Given the description of an element on the screen output the (x, y) to click on. 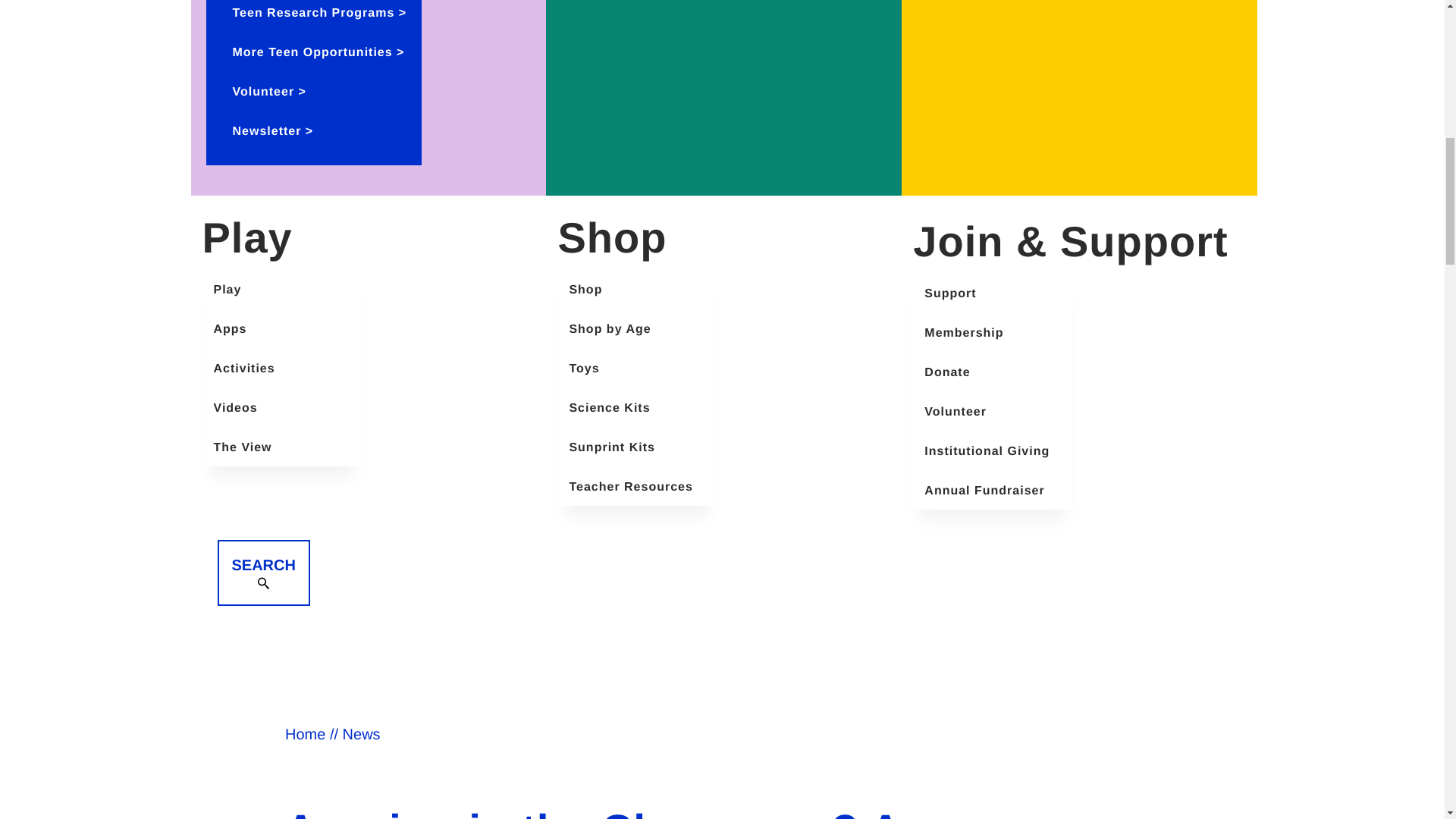
More Teen Opportunities (312, 51)
Volunteer (263, 91)
Teen Research Programs (314, 12)
Newsletter (267, 131)
